Given the description of an element on the screen output the (x, y) to click on. 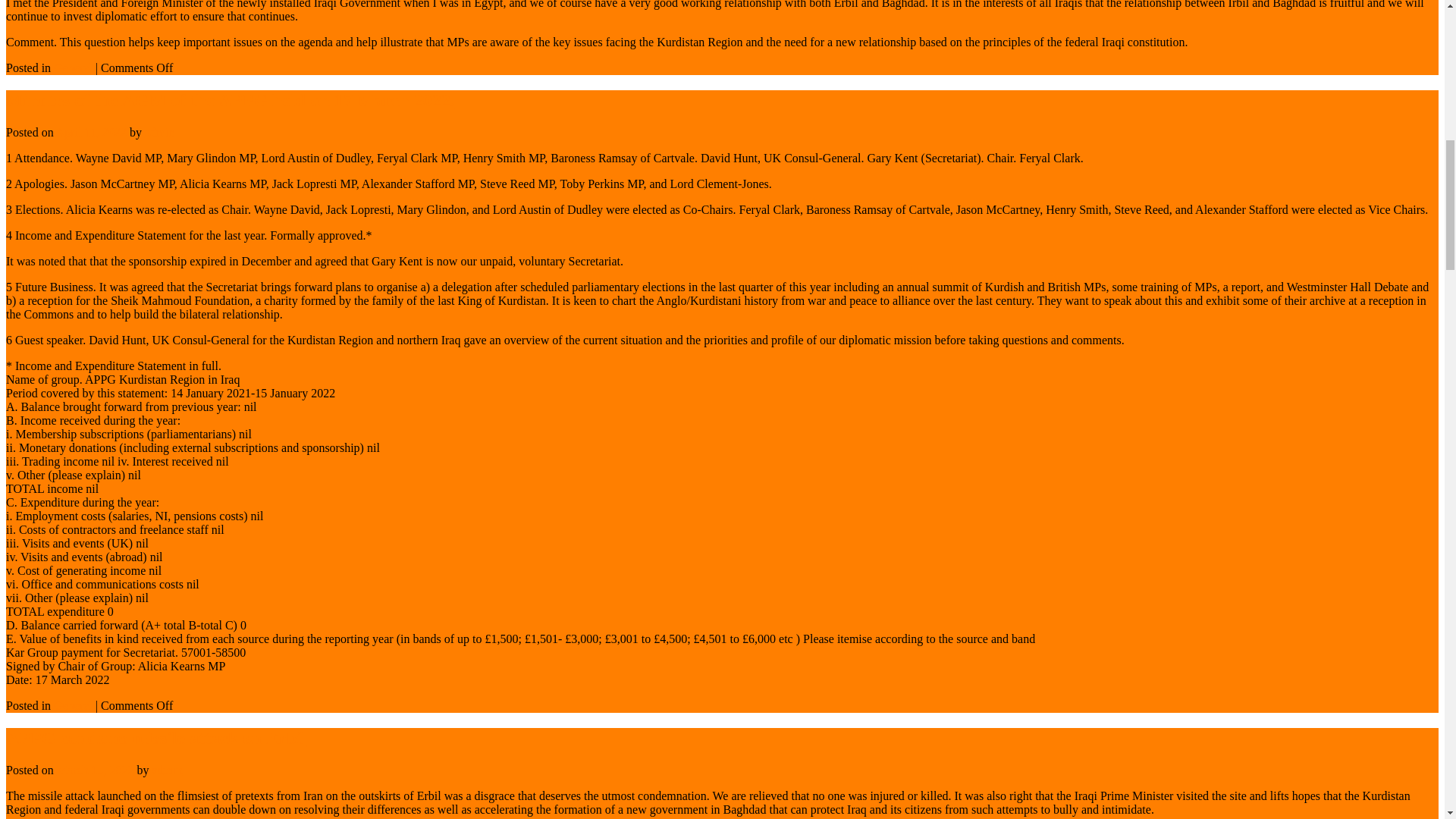
General (73, 67)
APPG condems missile attack on Erbil (156, 737)
17:37 (91, 132)
Minutes of the AGM of the APPG held on 17 March 2022. (229, 99)
General (73, 705)
View all posts by admin (159, 132)
View all posts in General (73, 67)
admin (159, 132)
admin (166, 769)
April 11, 2022 (91, 132)
March 15, 2022 (94, 769)
